Given the description of an element on the screen output the (x, y) to click on. 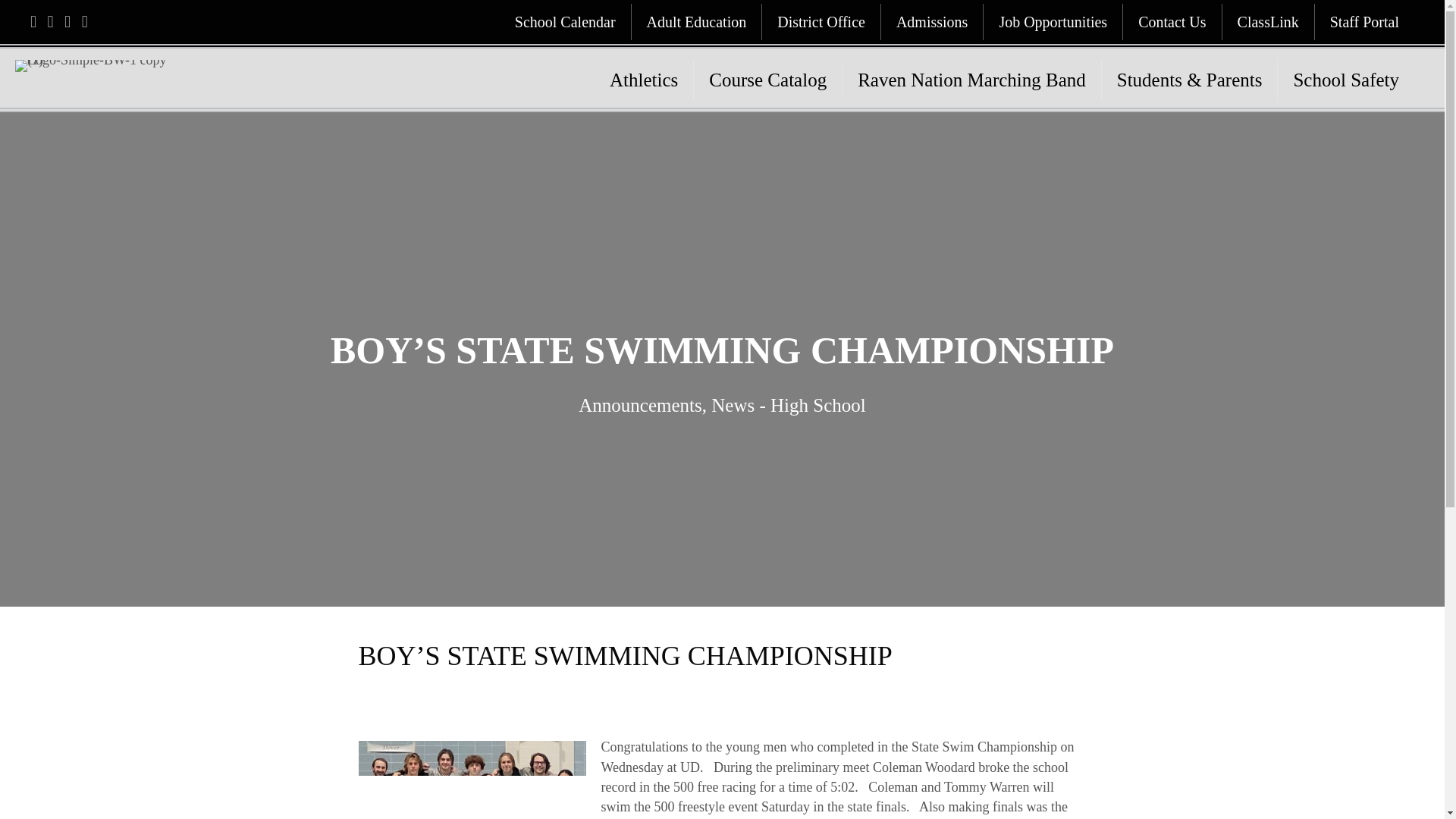
District Office (820, 22)
Adult Education (696, 22)
School Calendar (564, 22)
